Given the description of an element on the screen output the (x, y) to click on. 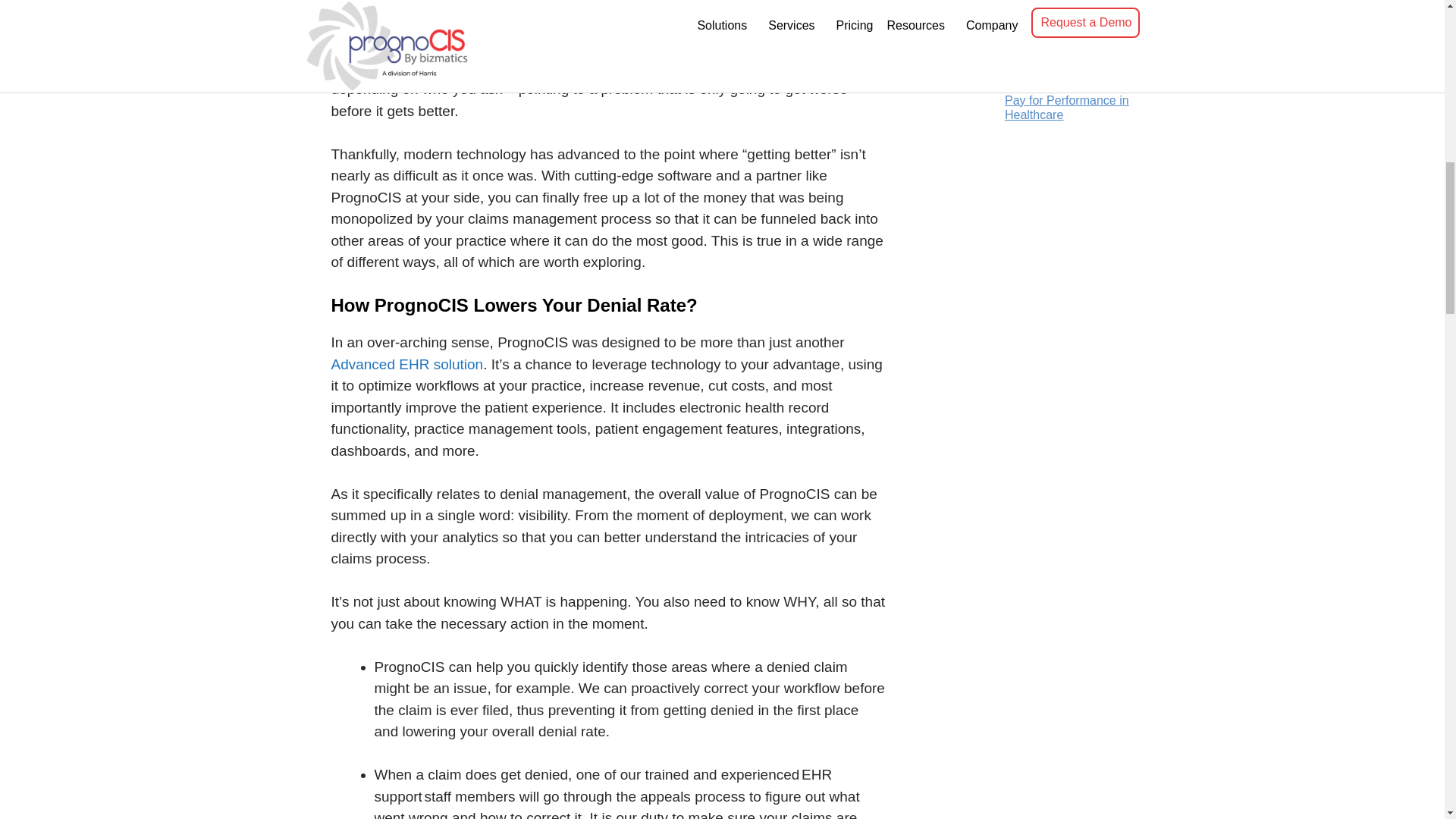
According to one recent study (424, 5)
Advanced EHR solution (406, 364)
In 2021 (682, 24)
Research from Experian (580, 45)
